Given the description of an element on the screen output the (x, y) to click on. 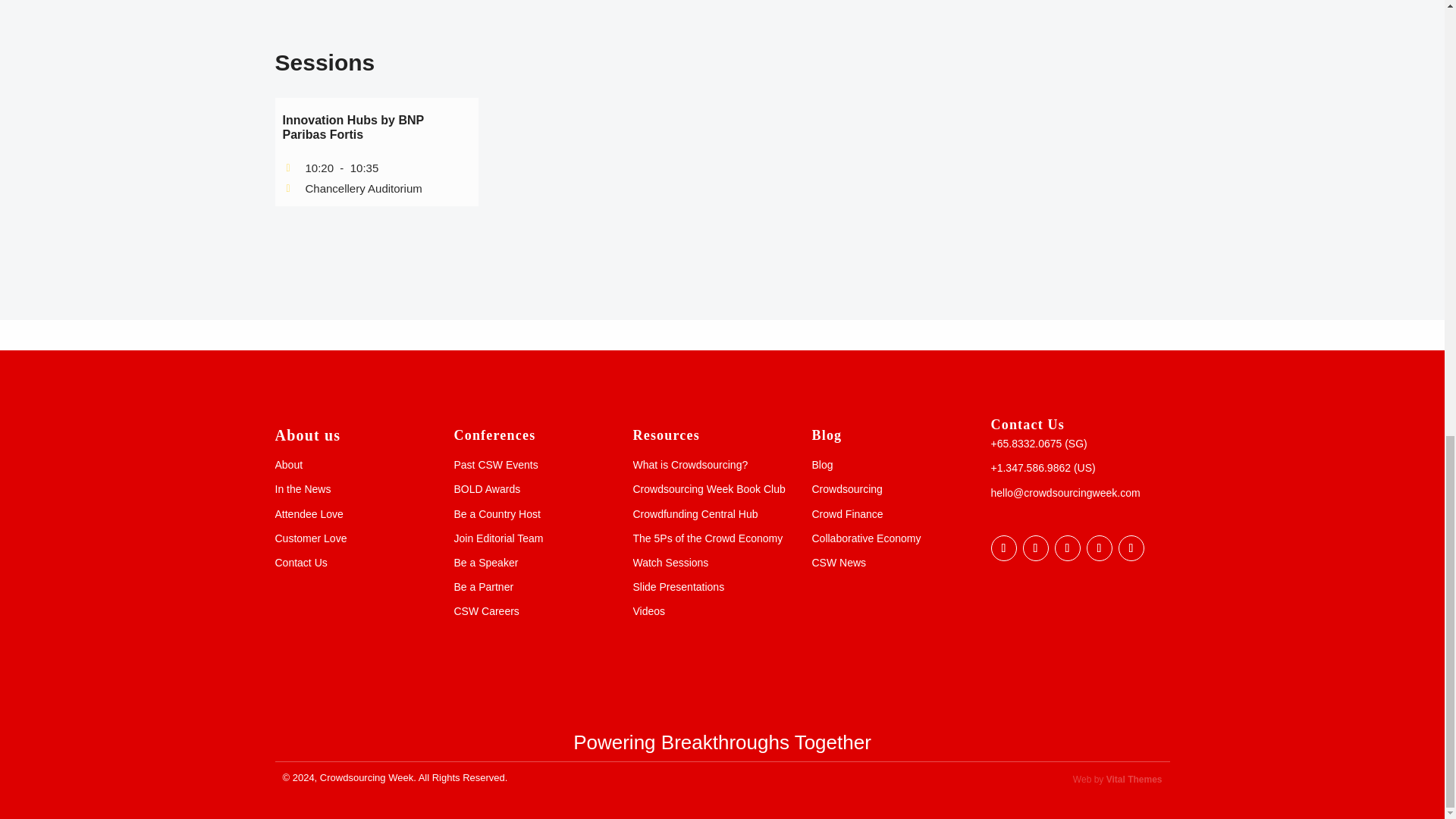
Follow on Facebook (1003, 548)
 Permanent Link to Innovation Hubs by BNP Paribas Fortis (352, 126)
Follow on Instagram (1130, 548)
BOLD Awards (485, 489)
Customer Love (310, 538)
About (288, 464)
Contact Us (300, 562)
Be a Country Host (496, 513)
Innovation Hubs by BNP Paribas Fortis (352, 126)
Follow on Youtube (1099, 548)
